Given the description of an element on the screen output the (x, y) to click on. 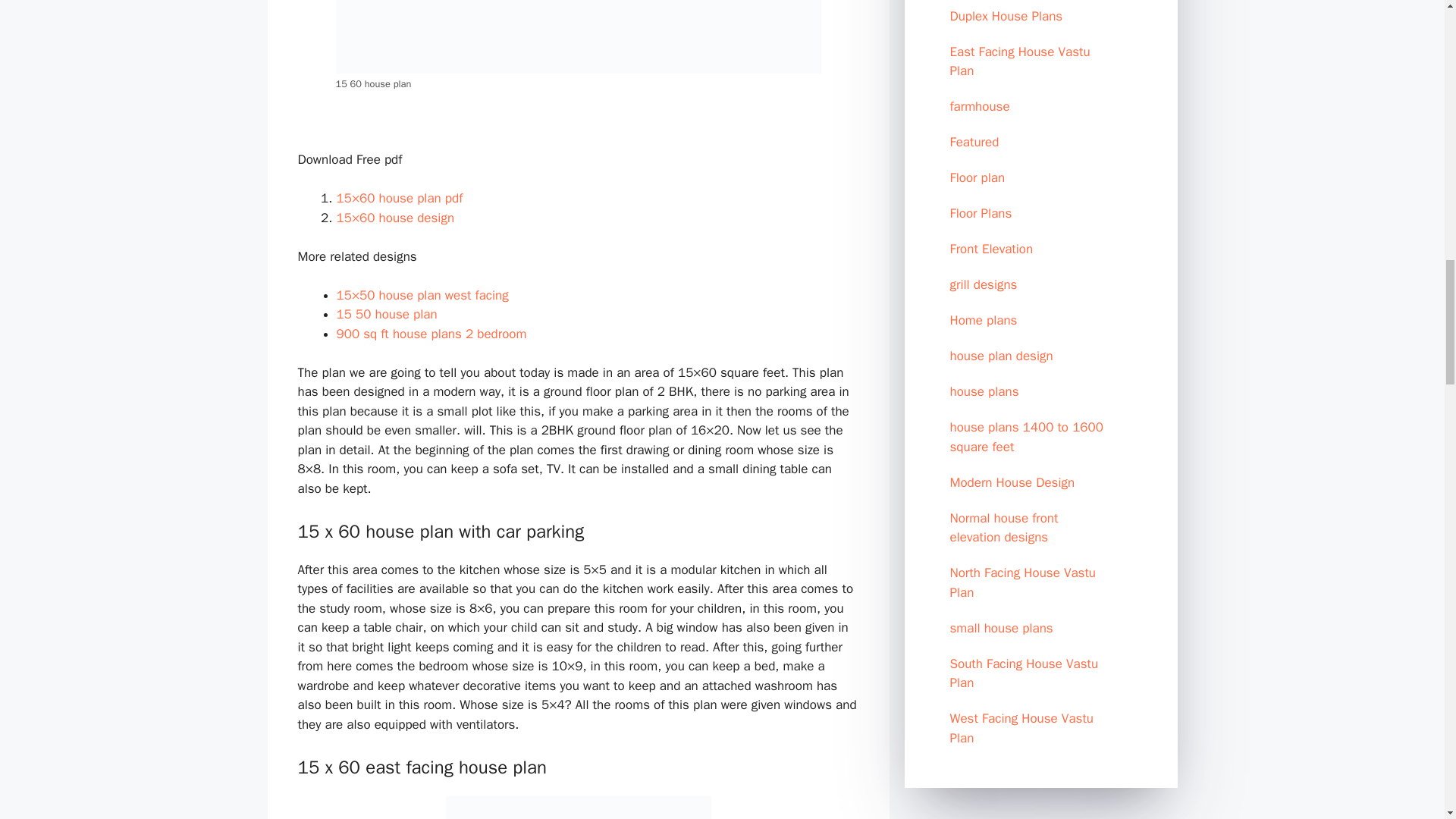
15 50 house plan (387, 314)
900 sq ft house plans 2 bedroom (431, 333)
Advertisement (1040, 811)
